Given the description of an element on the screen output the (x, y) to click on. 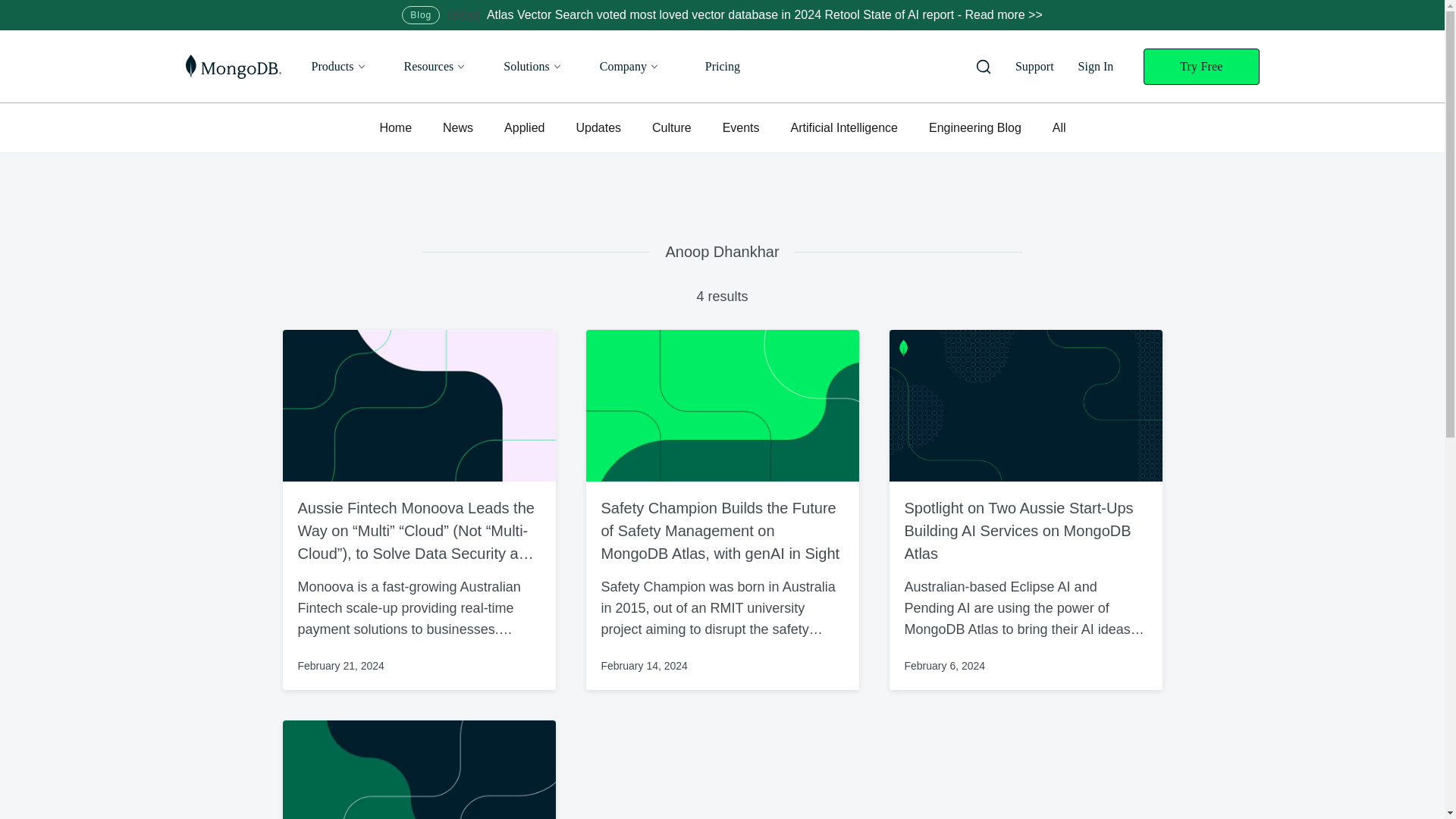
Resources (435, 66)
Solutions (532, 66)
Products (338, 66)
